Given the description of an element on the screen output the (x, y) to click on. 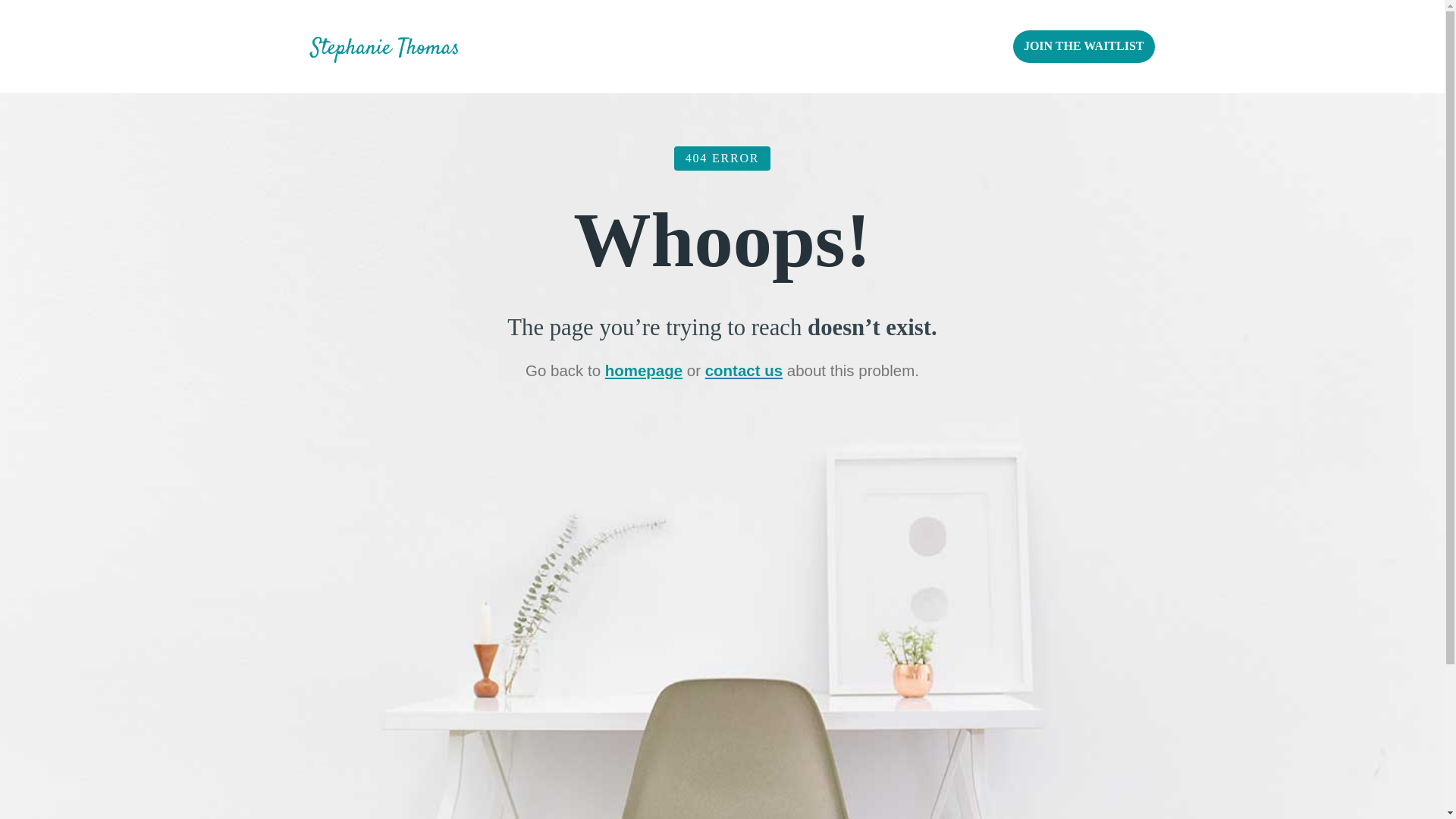
contact us (743, 370)
homepage (643, 370)
JOIN THE WAITLIST (1083, 46)
